Given the description of an element on the screen output the (x, y) to click on. 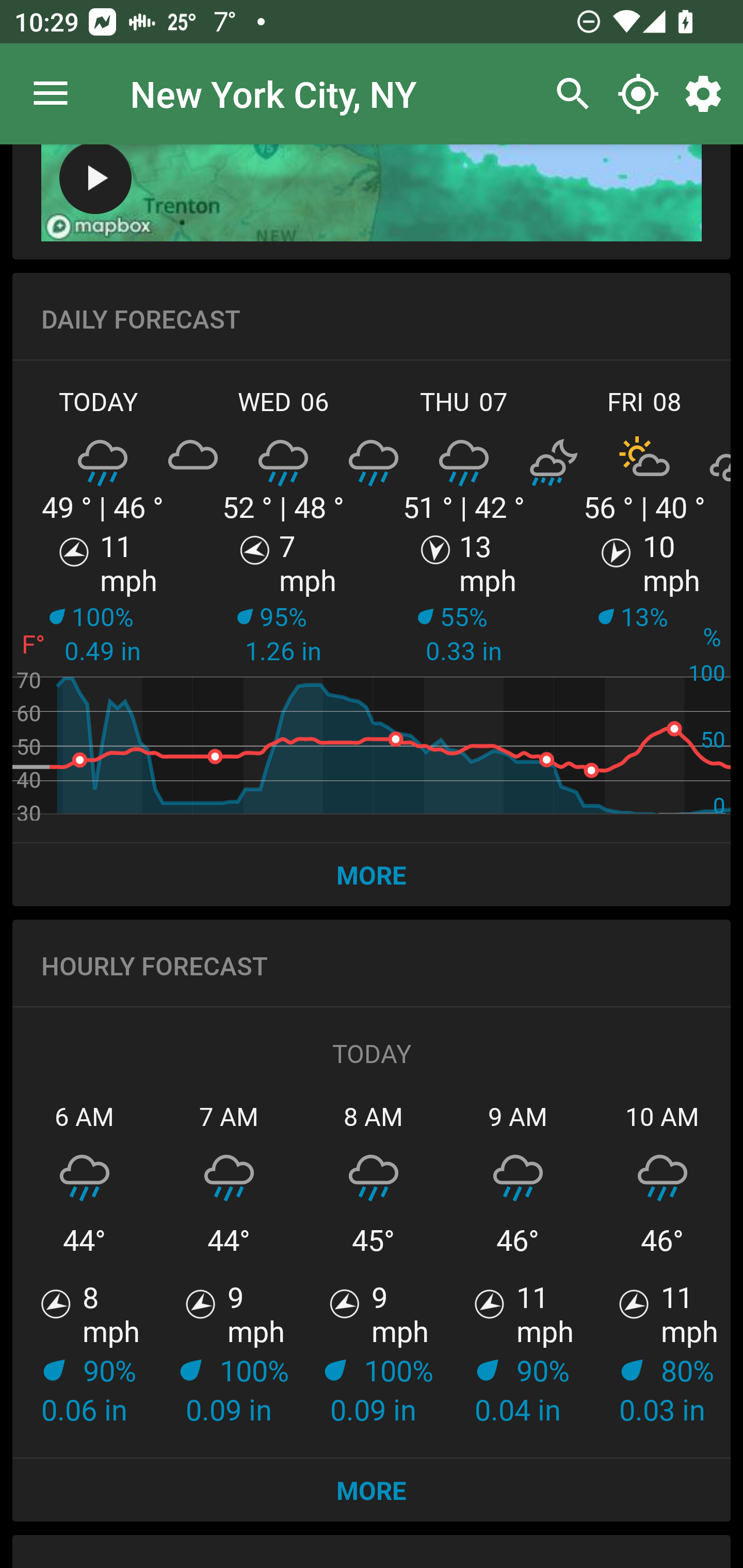
Press to open location manager. (50, 93)
Search for location (567, 94)
Select GPS location (637, 94)
Settings (706, 94)
New York City, NY (273, 92)
Weather Map (95, 179)
TODAY Rain 49 °  |  46 ° 11
mph 100% 0.49 in (102, 598)
WED 06 Rain 52 °  |  48 ° 7
mph 95% 1.26 in (283, 598)
THU 07 Showers 51 °  |  42 ° 13
mph 55% 0.33 in (463, 598)
FRI 08 Partly Cloudy 56 °  |  40 ° 10
mph 13% (642, 598)
MORE (371, 874)
6 AM 44° 8
mph 90% 0.06 in (84, 1263)
7 AM 44° 9
mph 100% 0.09 in (228, 1263)
8 AM 45° 9
mph 100% 0.09 in (373, 1263)
9 AM 46° 11
mph 90% 0.04 in (517, 1263)
10 AM 46° 11
mph 80% 0.03 in (659, 1263)
MORE (371, 1489)
